Given the description of an element on the screen output the (x, y) to click on. 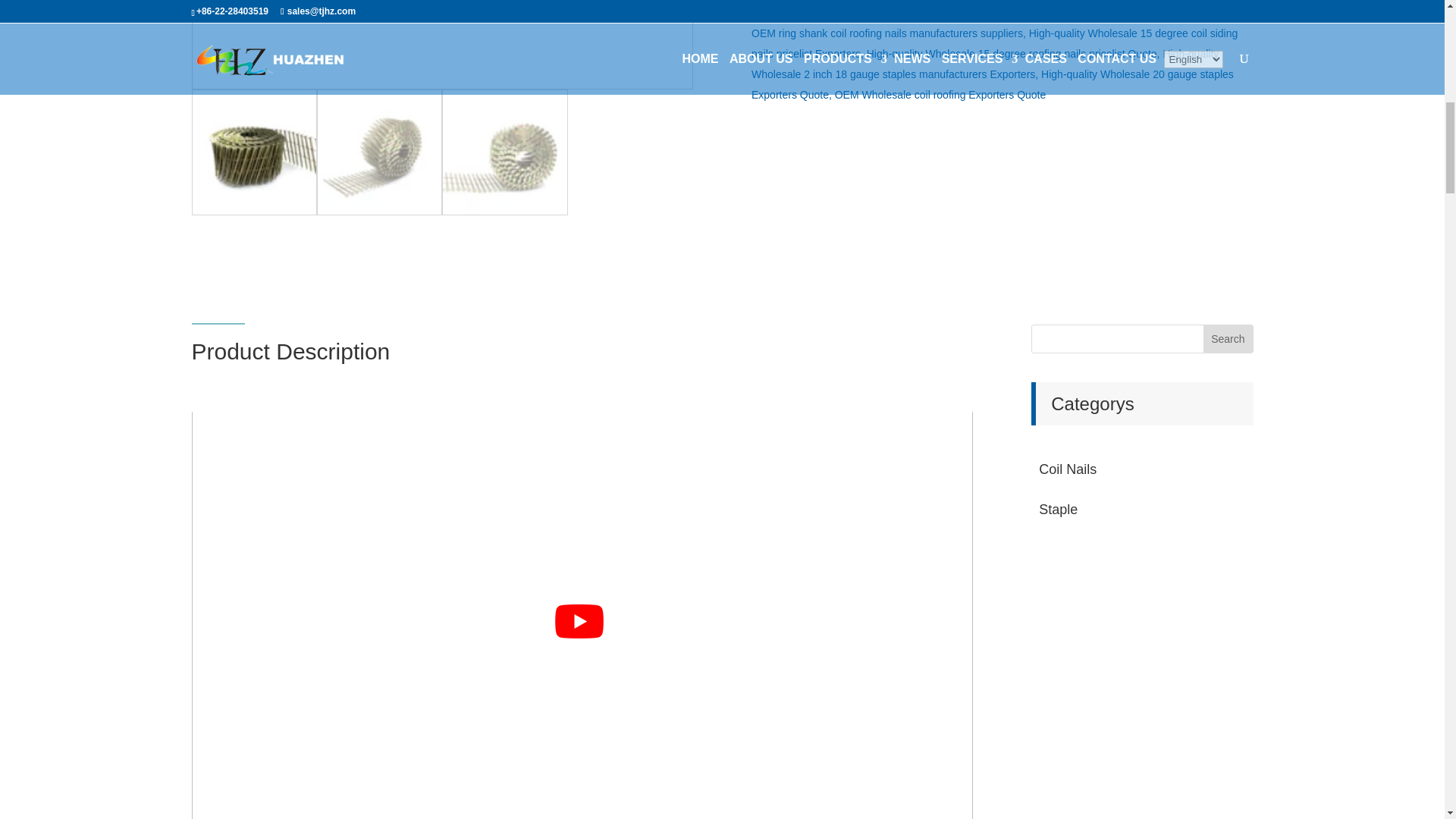
Staple (1141, 509)
Search (1228, 338)
Search (1228, 338)
Coil Nails (1141, 468)
